Given the description of an element on the screen output the (x, y) to click on. 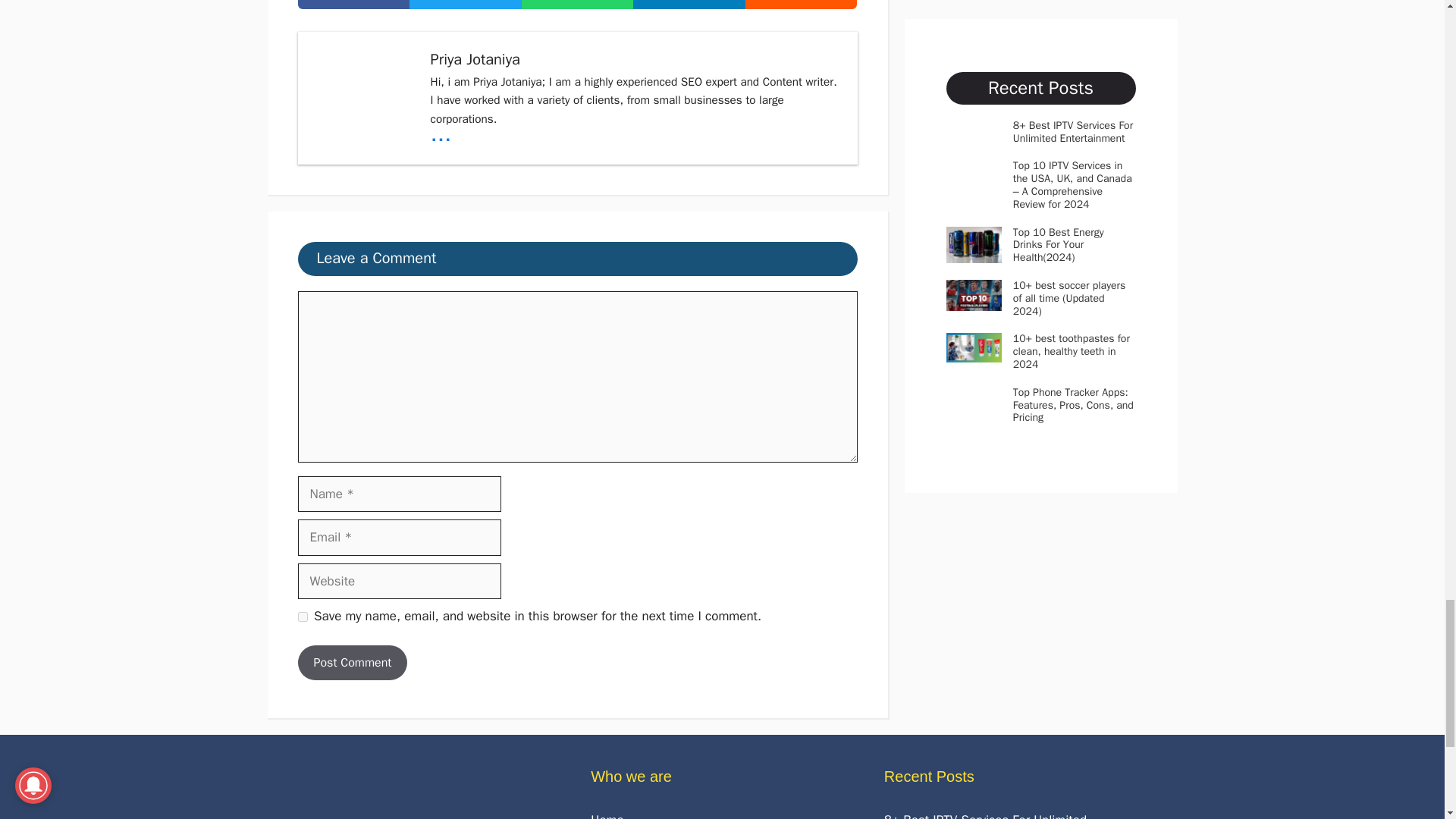
Post Comment (352, 662)
yes (302, 616)
